Given the description of an element on the screen output the (x, y) to click on. 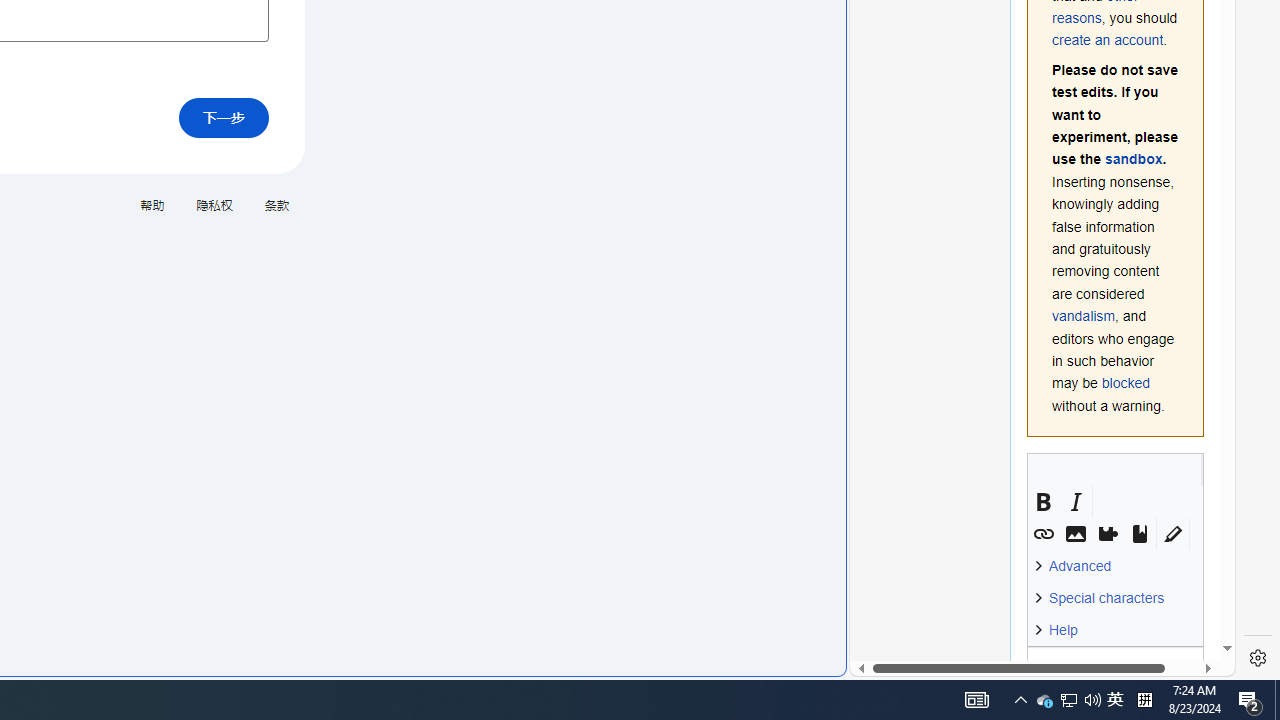
blocked (1125, 383)
Special characters (1103, 597)
Syntax highlighting (1173, 533)
